Given the description of an element on the screen output the (x, y) to click on. 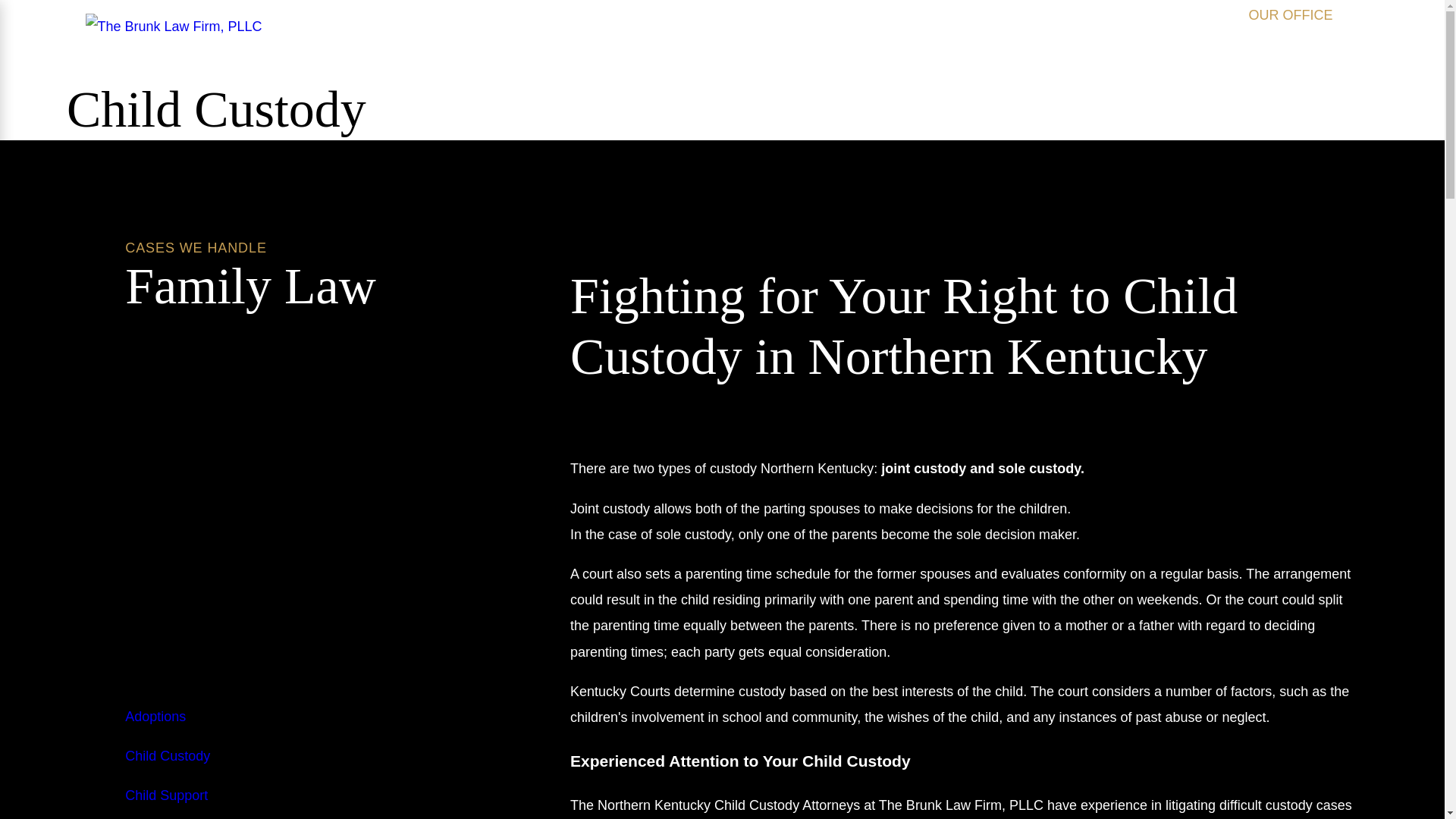
Open the accessibility options menu (1412, 786)
The Brunk Law Firm, PLLC (173, 26)
Main Menu (311, 26)
